Given the description of an element on the screen output the (x, y) to click on. 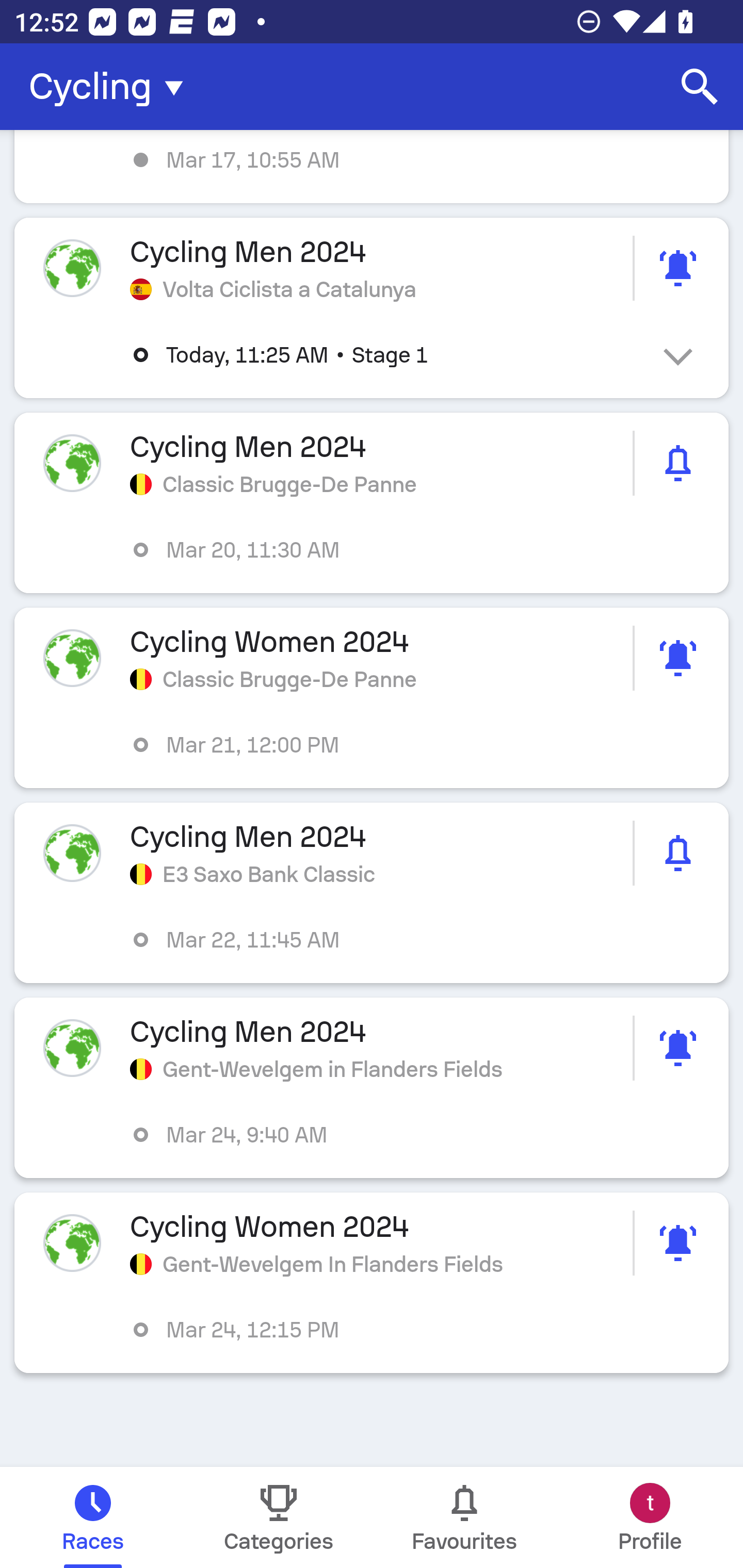
Cycling (111, 86)
Search (699, 86)
Mar 17, 10:55 AM (371, 166)
Today, 11:25 AM • Stage 1 (385, 355)
Categories (278, 1517)
Favourites (464, 1517)
Profile (650, 1517)
